Given the description of an element on the screen output the (x, y) to click on. 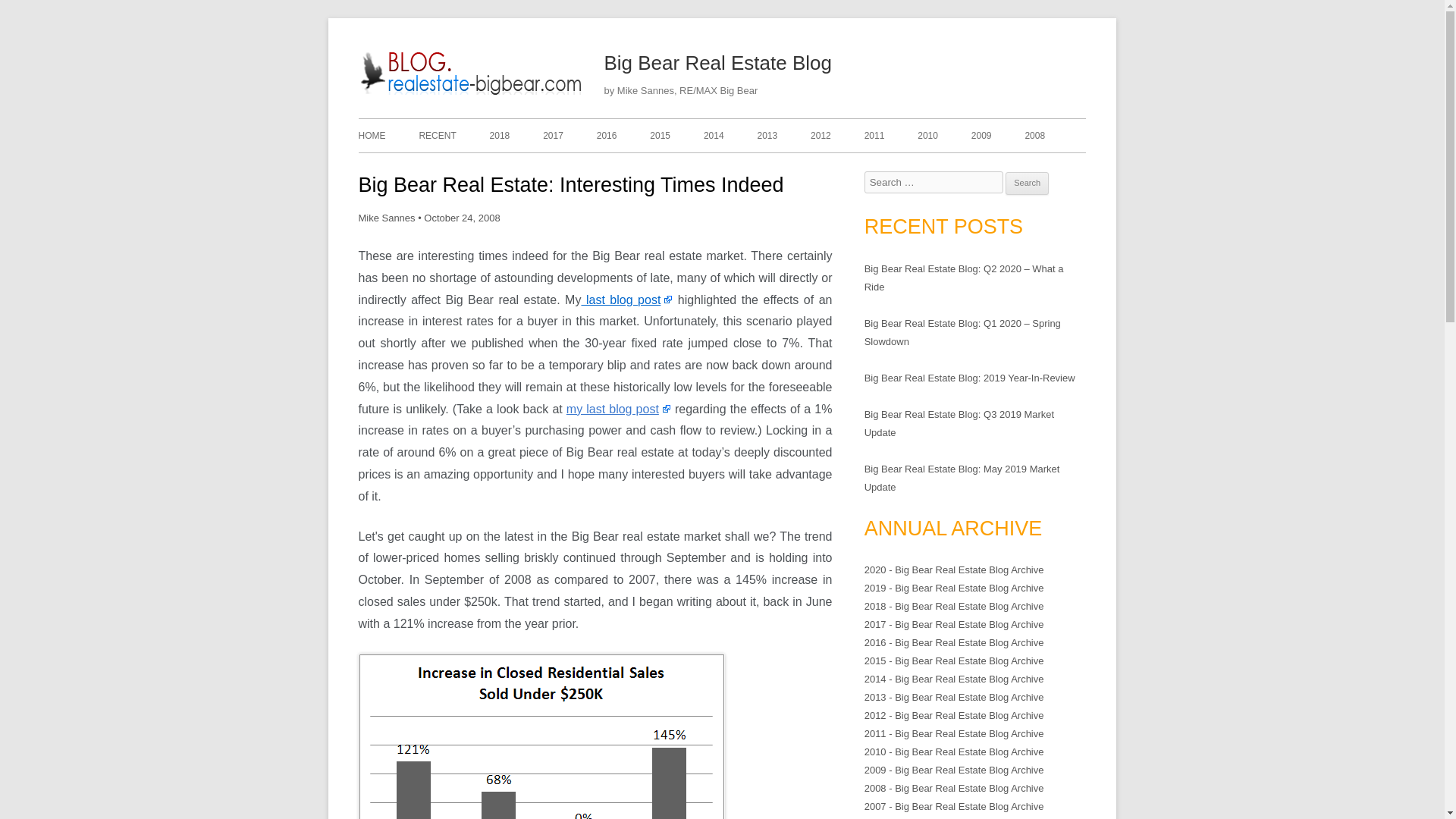
View all posts by Mike Sannes (386, 217)
Big Bear Real Estate: Encouraging Developments (618, 408)
 last blog post (626, 299)
Big Bear Real Estate Blog (717, 63)
Search (1027, 182)
Big Bear Real Estate Blog (471, 94)
RECENT (437, 135)
Mike Sannes (386, 217)
Big Bear Real Estate: Encouraging Developments (626, 299)
October 24, 2008 (461, 217)
my last blog post (618, 408)
Search (1027, 182)
Search (1027, 182)
